Given the description of an element on the screen output the (x, y) to click on. 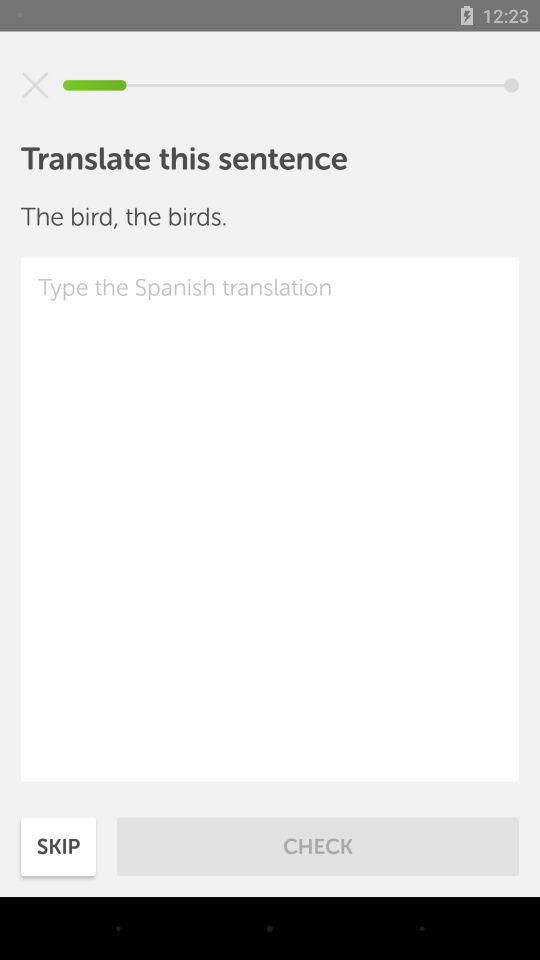
turn on the item below the item (270, 519)
